Given the description of an element on the screen output the (x, y) to click on. 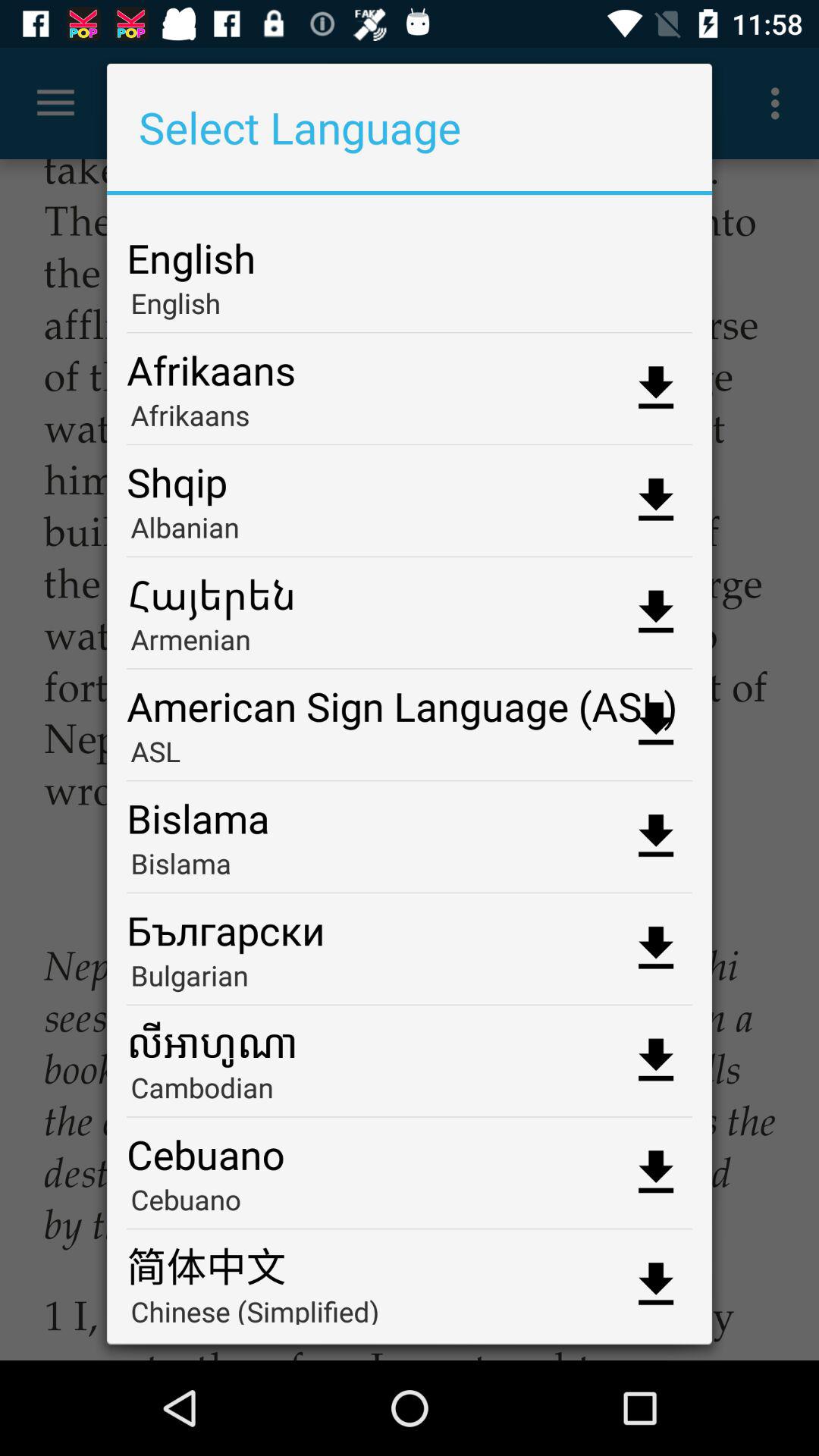
turn off the cambodian icon (409, 1092)
